Given the description of an element on the screen output the (x, y) to click on. 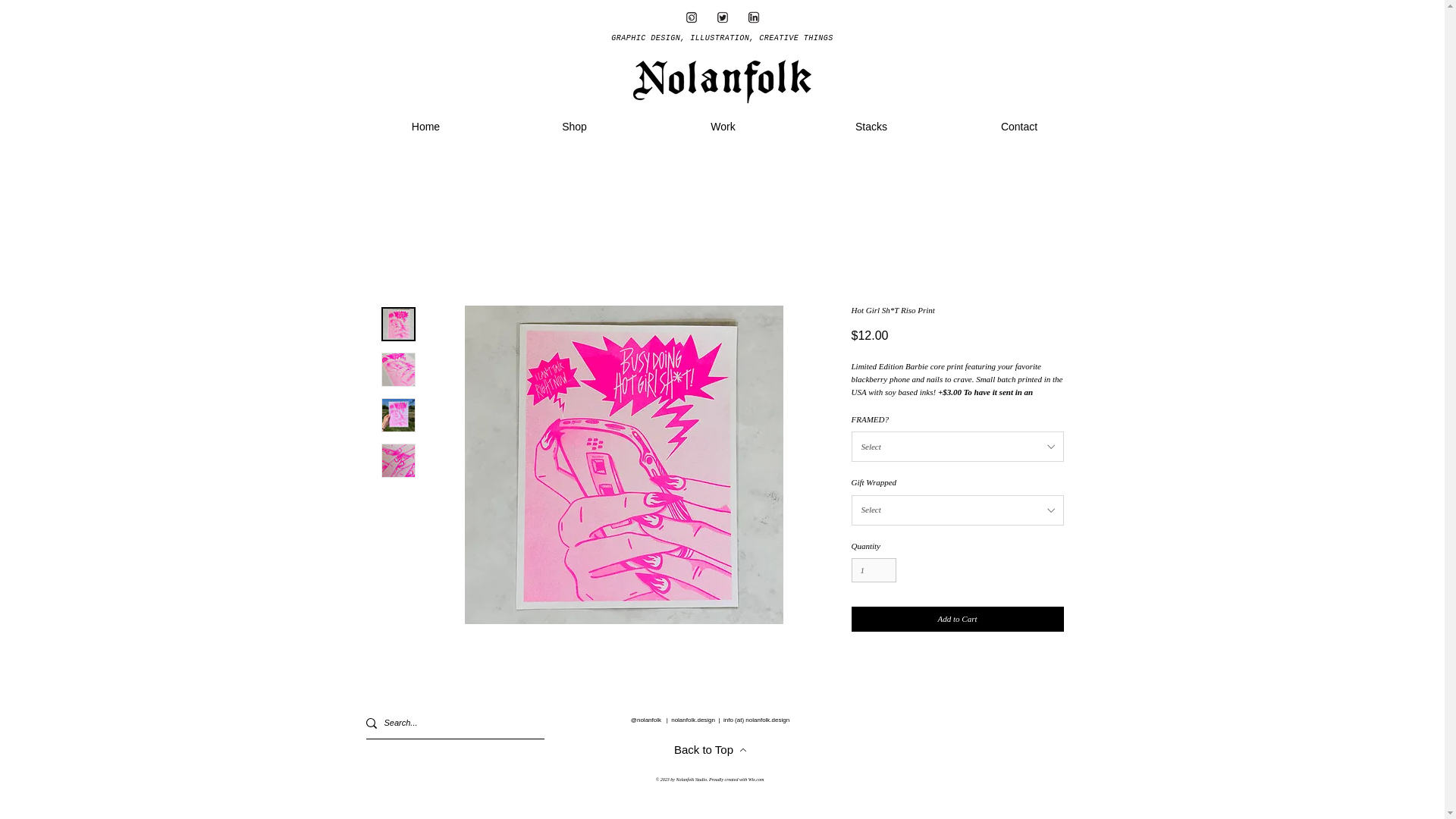
Select (956, 510)
Add to Cart (956, 618)
Shop (574, 126)
Stacks (870, 126)
Select (956, 446)
Wix.com (756, 779)
Contact (1018, 126)
Work (723, 126)
Back to Top (709, 749)
nolanfolk.design  (693, 719)
